Given the description of an element on the screen output the (x, y) to click on. 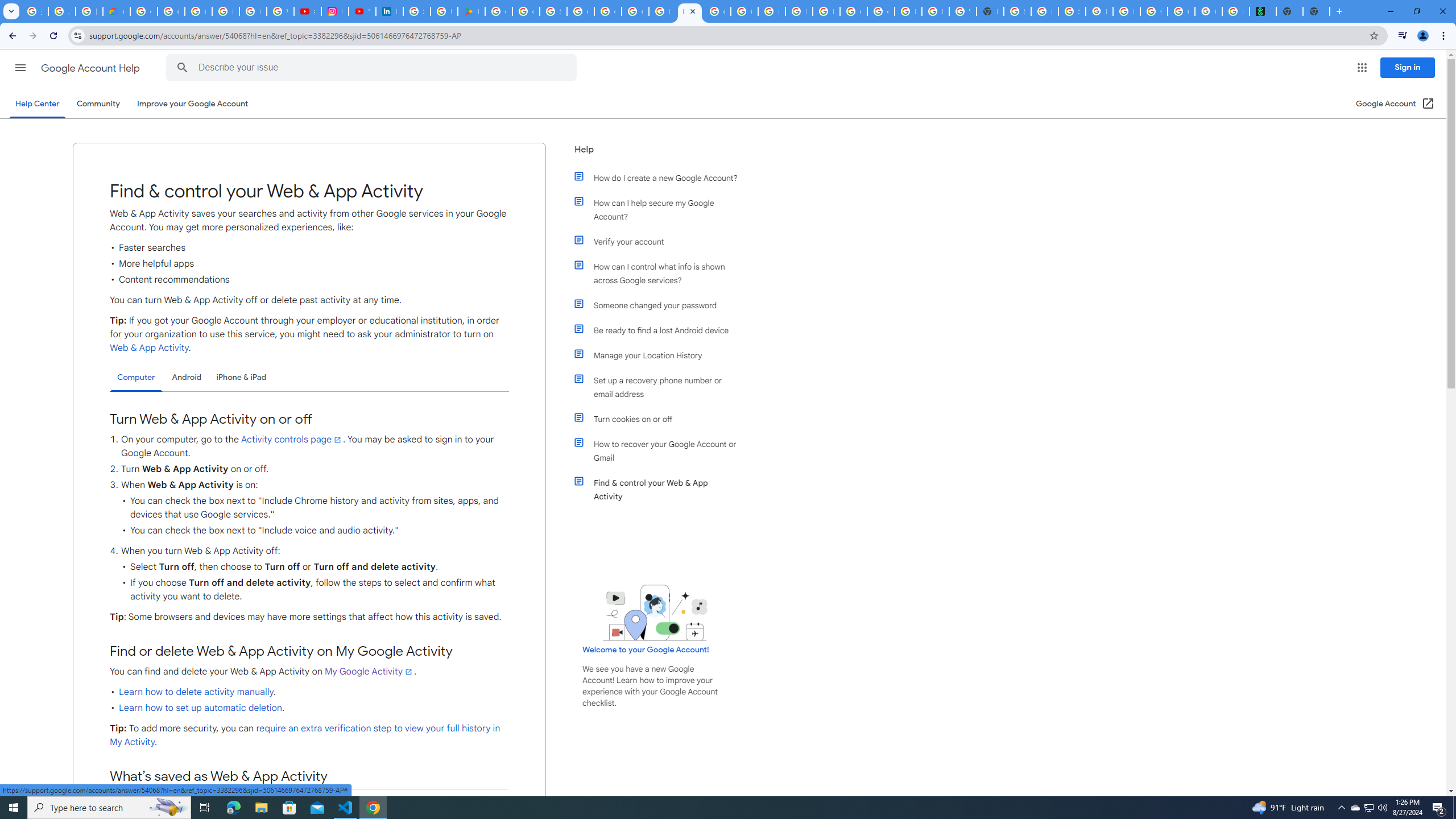
Verify your account (661, 241)
Someone changed your password (661, 305)
Google Account (Open in a new window) (1395, 103)
Turn cookies on or off (661, 419)
iPhone & iPad (240, 376)
